Given the description of an element on the screen output the (x, y) to click on. 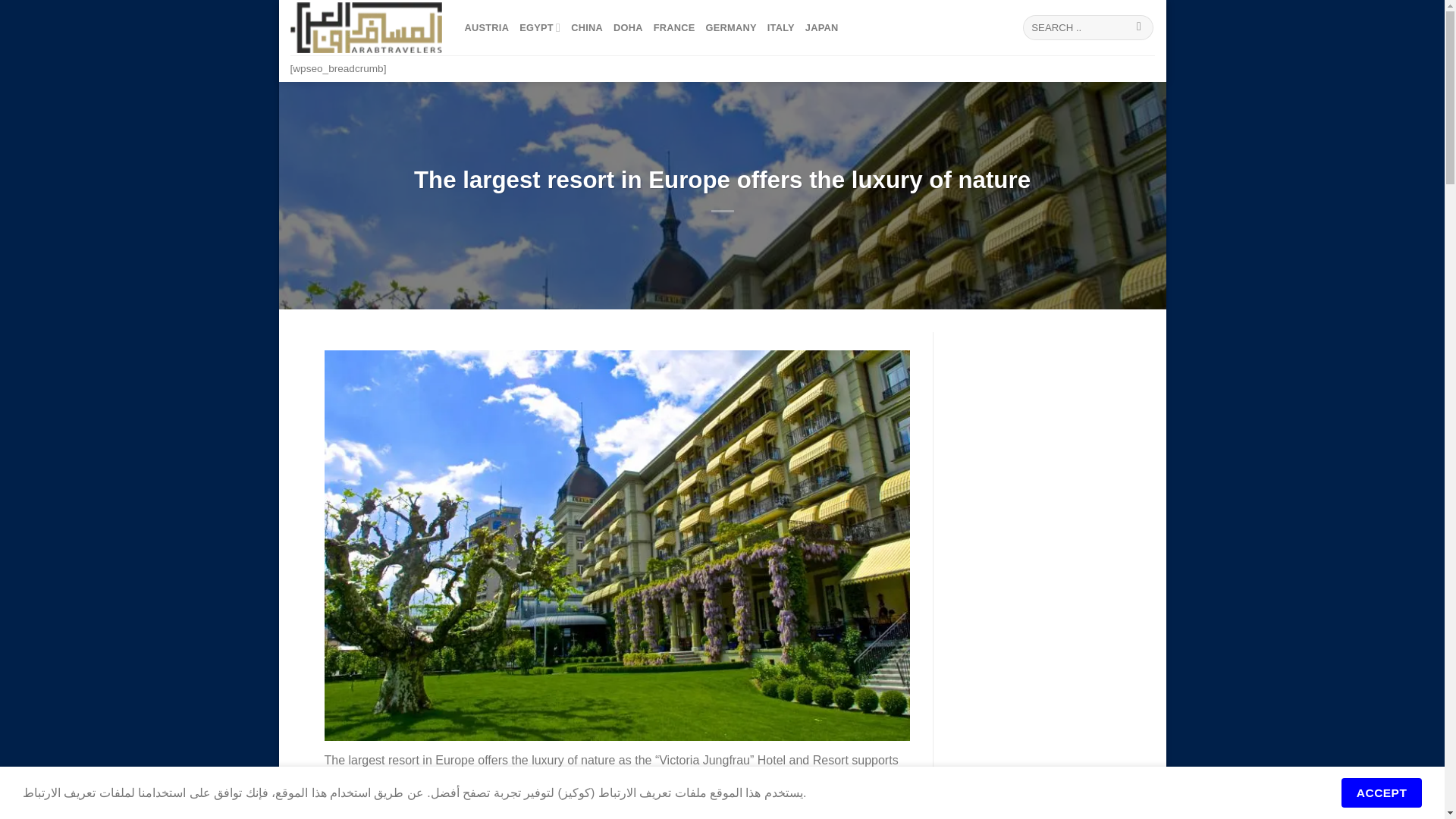
EGYPT (539, 27)
FRANCE (674, 26)
GERMANY (731, 26)
CHINA (586, 26)
JAPAN (821, 26)
AUSTRIA (486, 26)
DOHA (627, 26)
arab travelers (365, 27)
ITALY (780, 26)
